Given the description of an element on the screen output the (x, y) to click on. 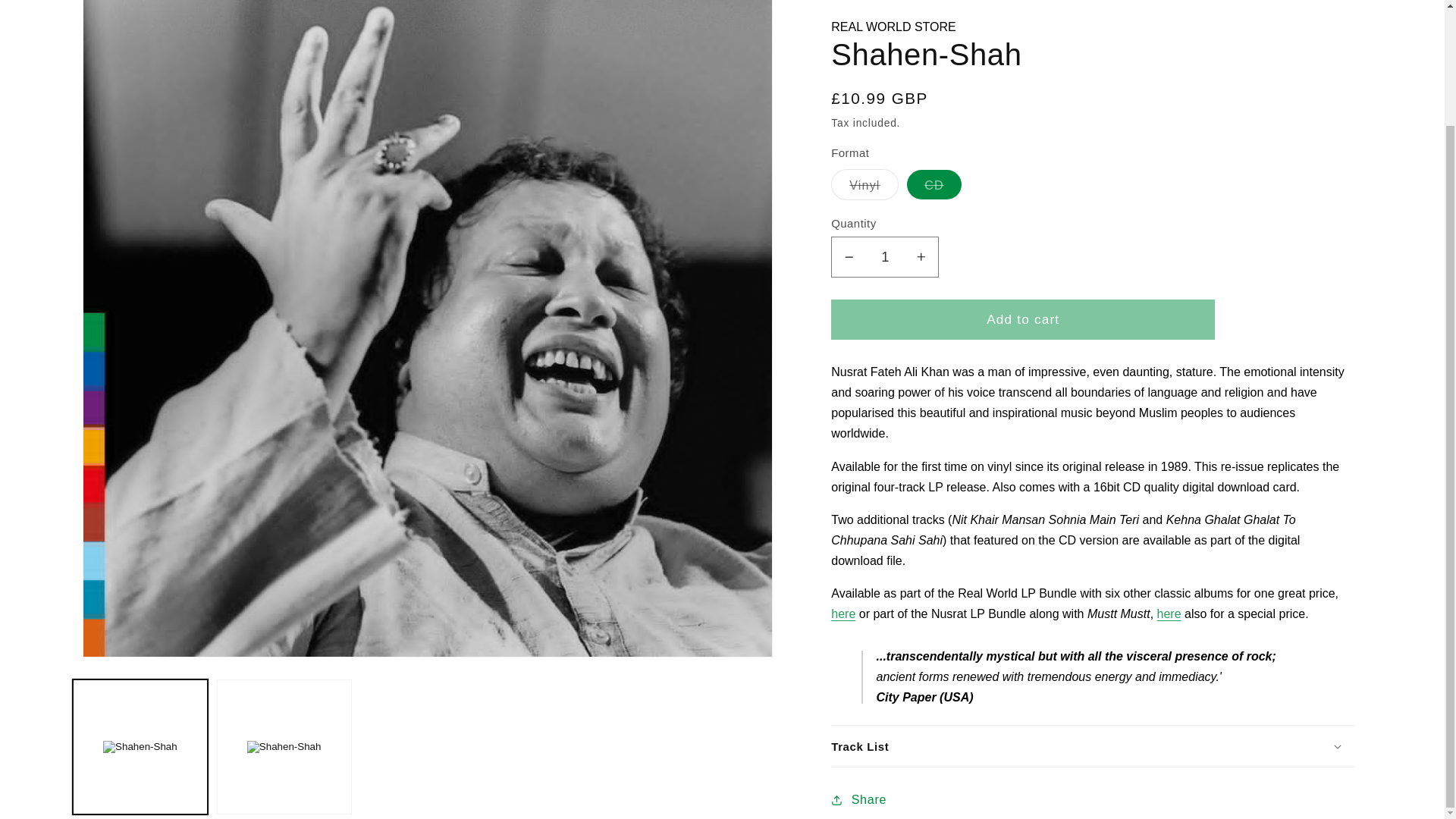
Skip to product information (119, 3)
1 (885, 203)
